Given the description of an element on the screen output the (x, y) to click on. 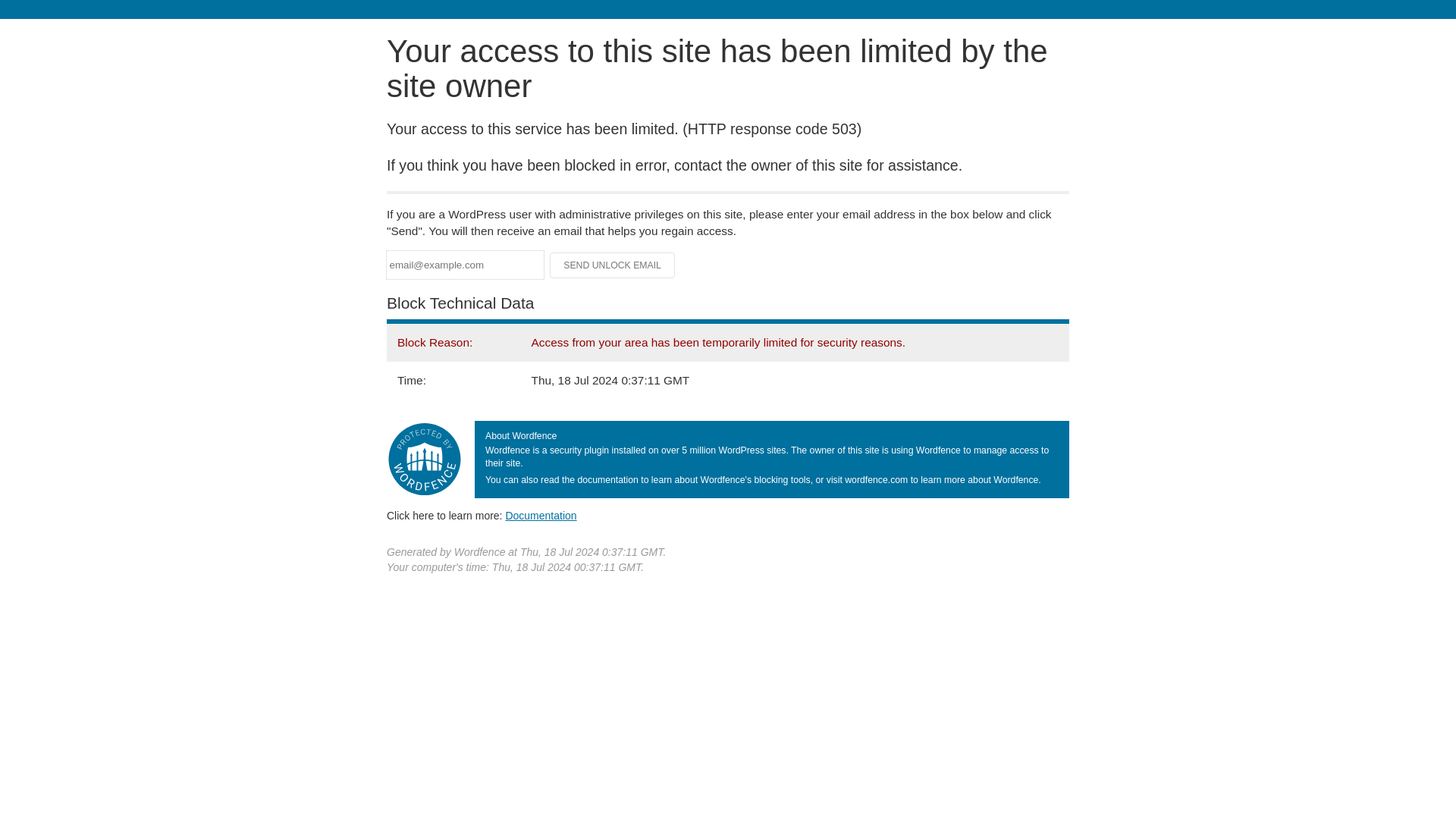
Documentation (540, 515)
Send Unlock Email (612, 265)
Send Unlock Email (612, 265)
